Given the description of an element on the screen output the (x, y) to click on. 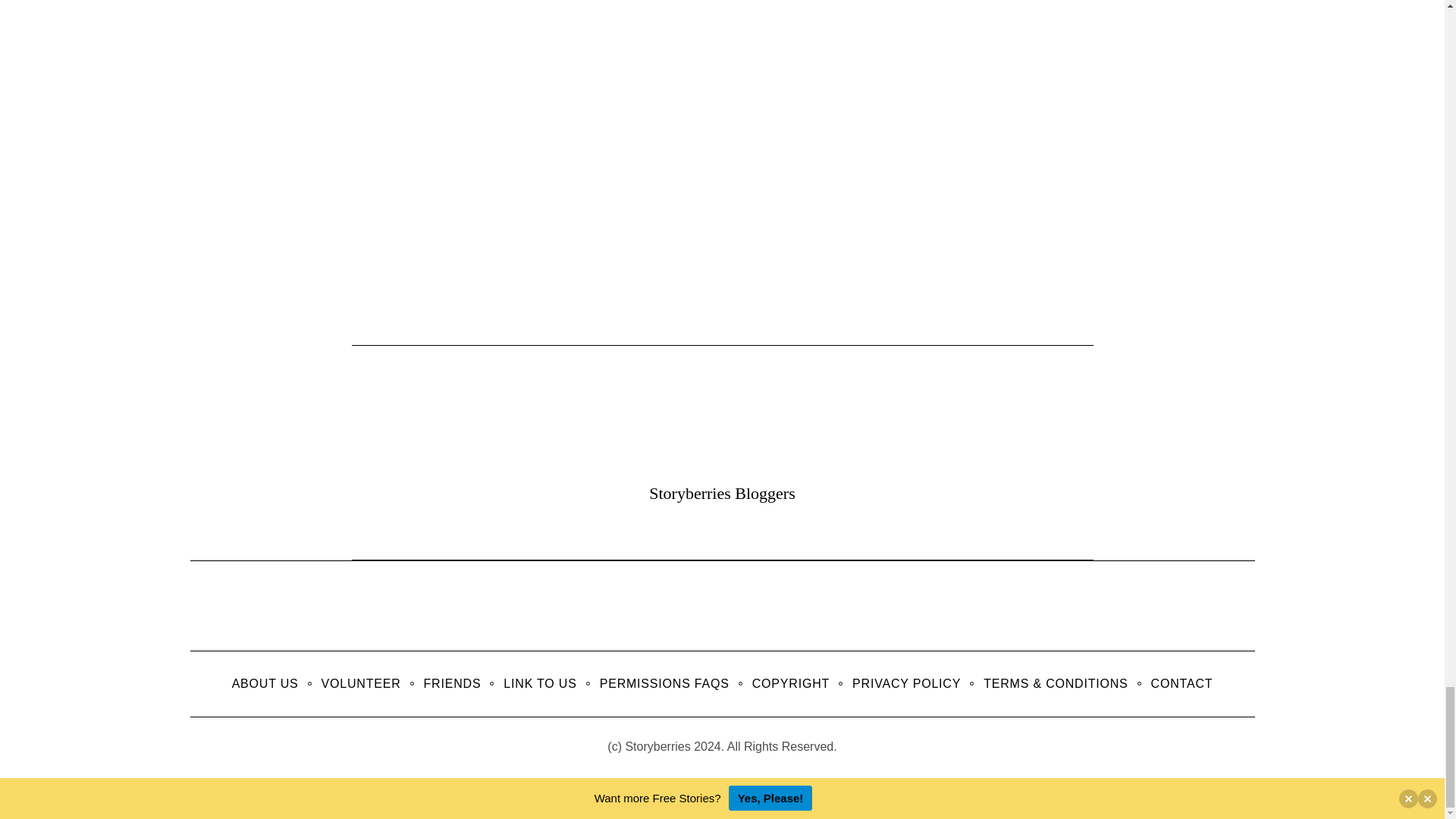
LINK TO US (540, 683)
Storyberries Bloggers (721, 493)
FRIENDS (452, 683)
PERMISSIONS FAQS (664, 683)
ABOUT US (265, 683)
VOLUNTEER (361, 683)
COPYRIGHT (791, 683)
